Given the description of an element on the screen output the (x, y) to click on. 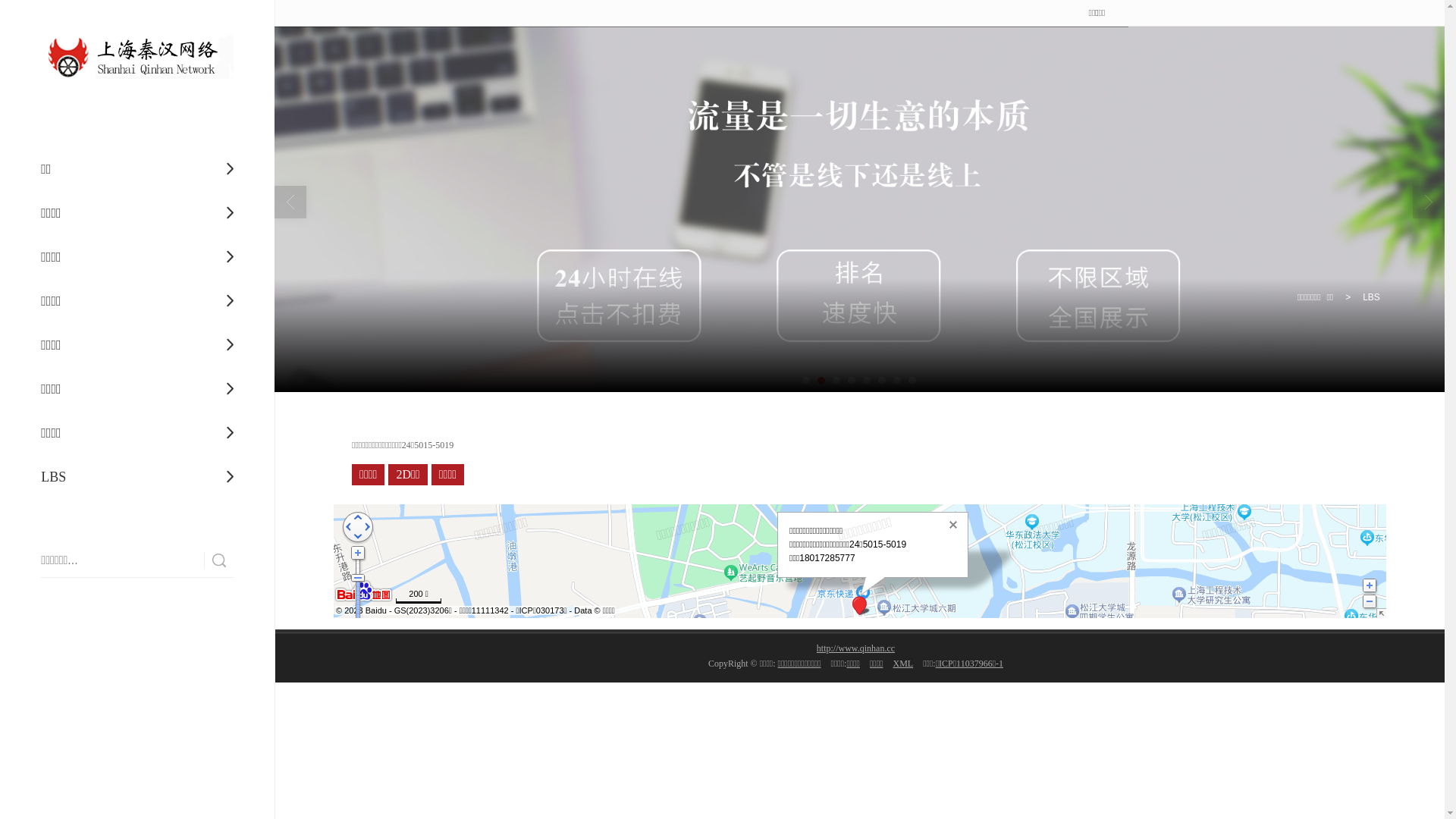
XML Element type: text (902, 663)
LBS Element type: text (137, 476)
LBS Element type: text (1371, 296)
http://www.qinhan.cc Element type: text (855, 648)
